Given the description of an element on the screen output the (x, y) to click on. 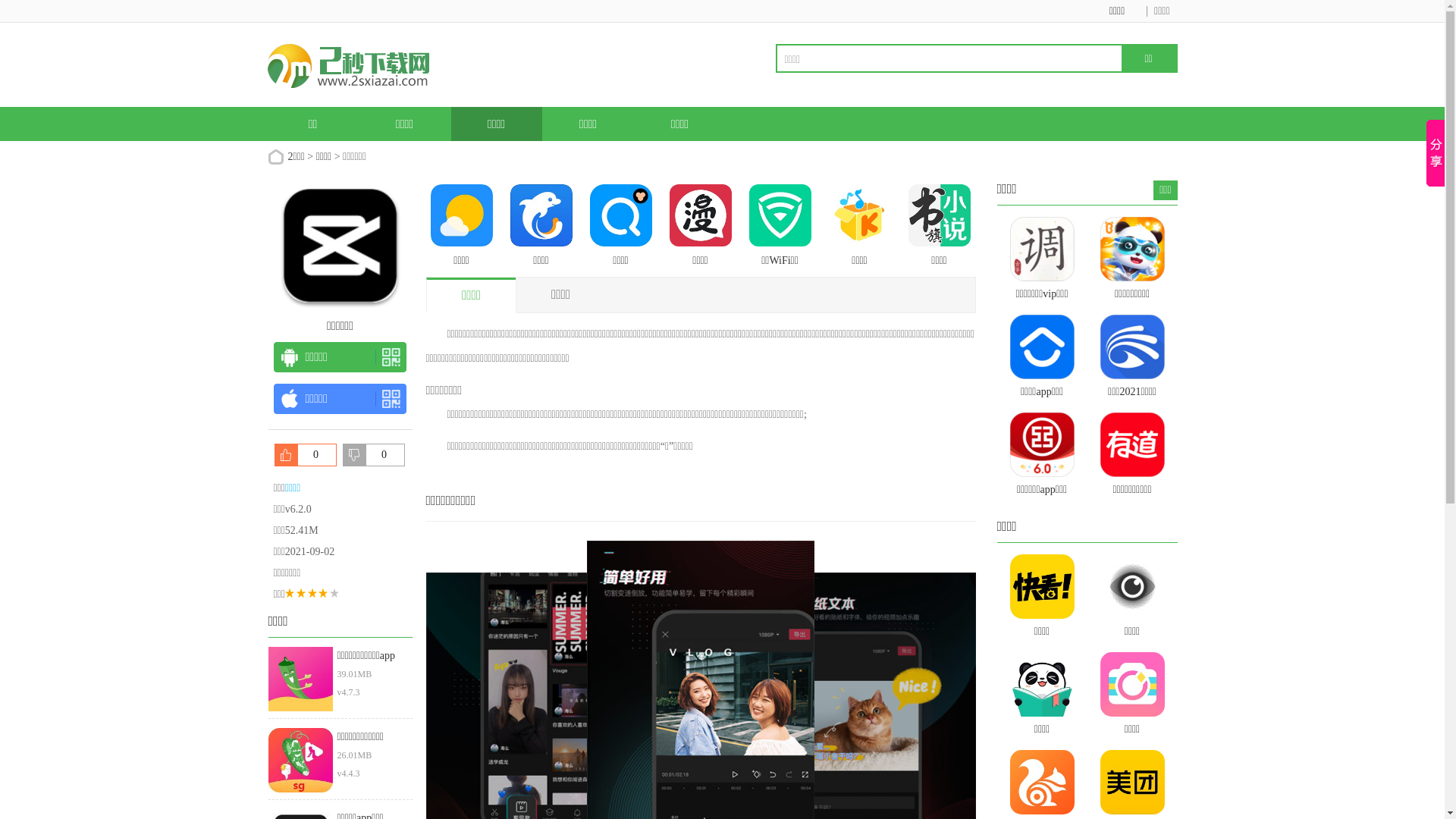
0 Element type: text (305, 454)
0 Element type: text (373, 454)
